Given the description of an element on the screen output the (x, y) to click on. 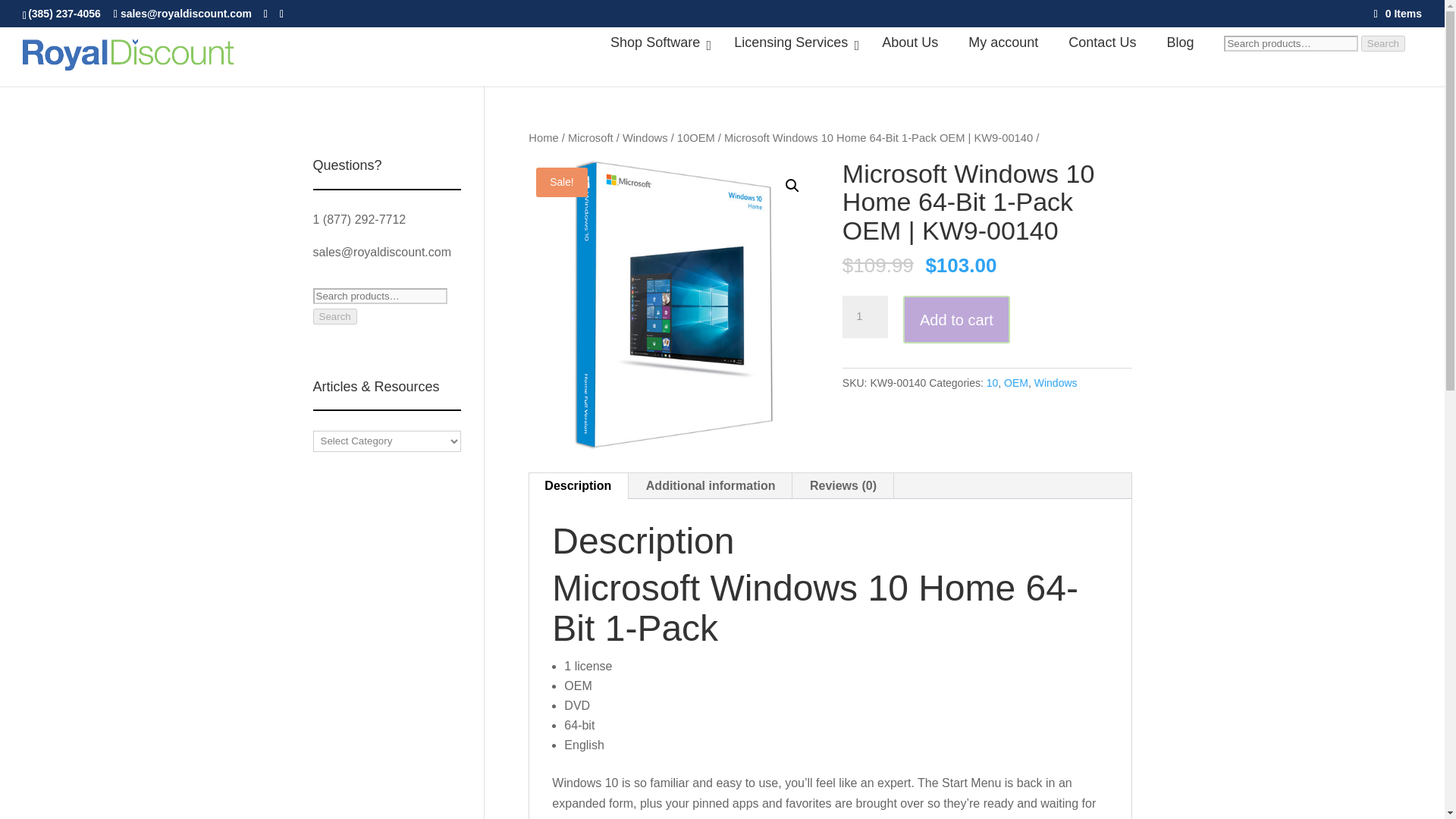
0 Items (1398, 13)
Home (542, 137)
1 (865, 316)
Microsoft Windows 10 Home 64-Bit 1-Pack (673, 304)
Windows (645, 137)
OEM (701, 137)
Search (1383, 43)
Shop Software (657, 42)
Blog (1179, 42)
